Given the description of an element on the screen output the (x, y) to click on. 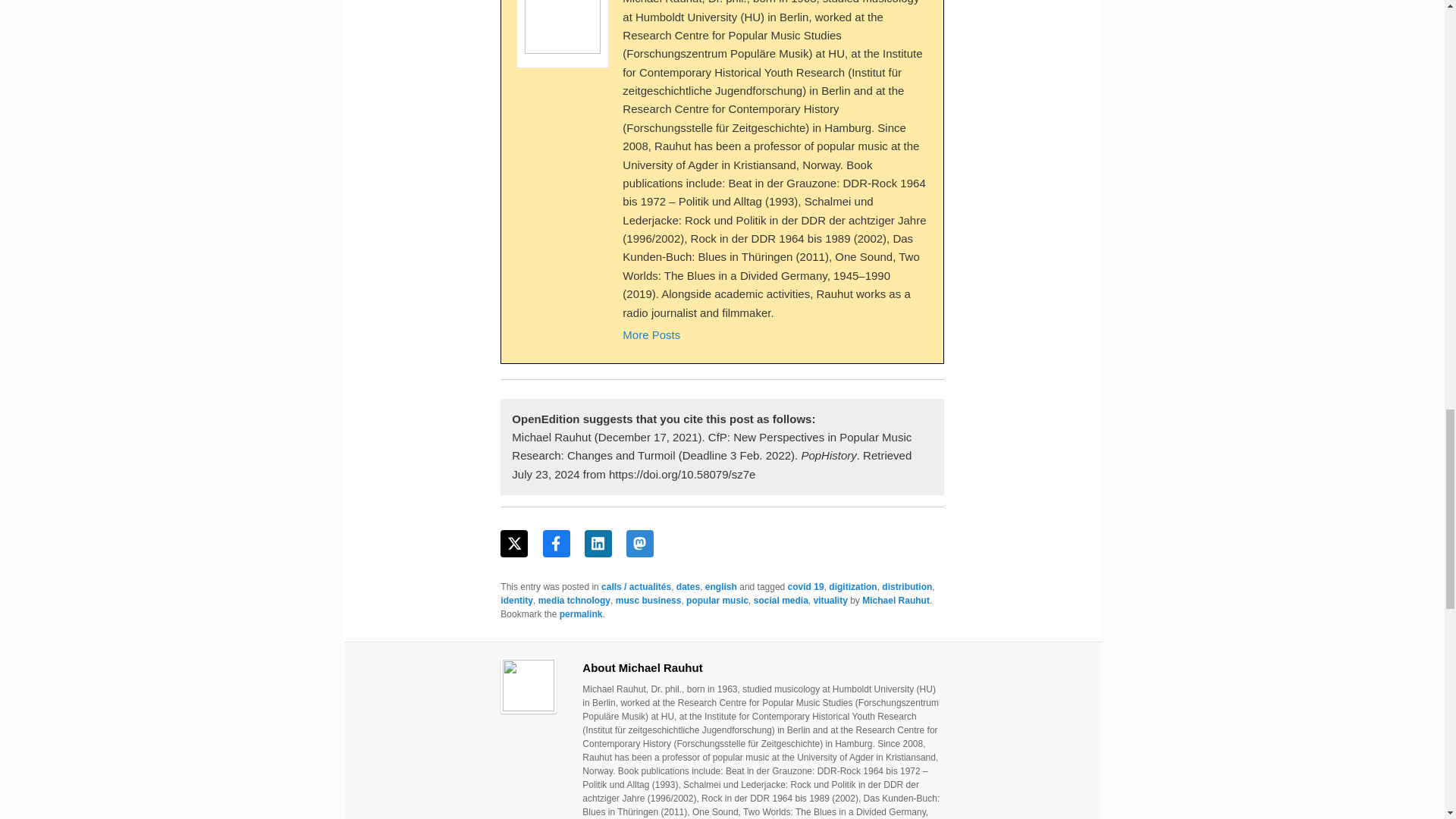
covid 19 (805, 586)
english (720, 586)
identity (516, 600)
dates (688, 586)
media tchnology (574, 600)
distribution (906, 586)
digitization (852, 586)
More Posts (651, 334)
